Given the description of an element on the screen output the (x, y) to click on. 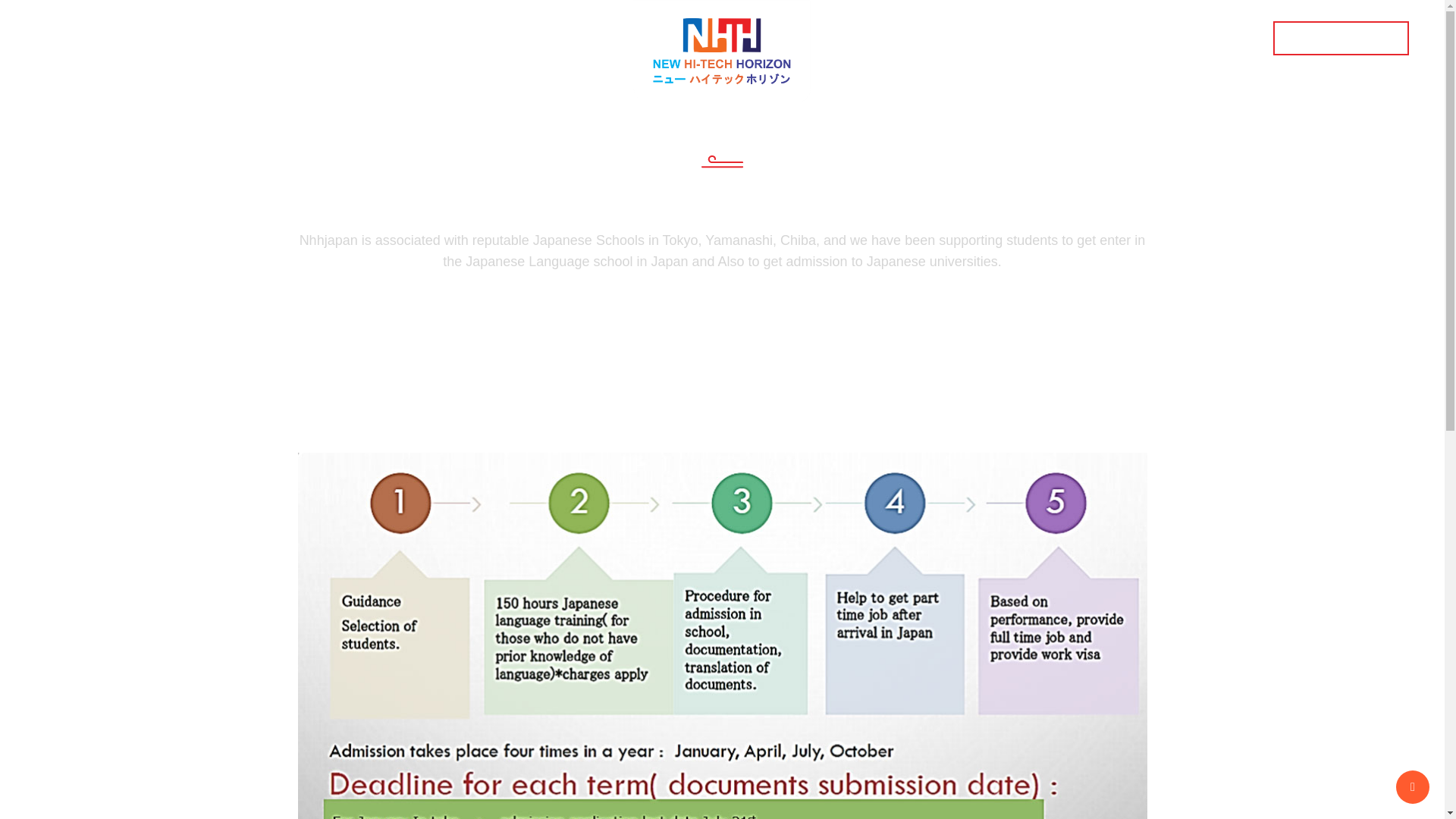
ABOUT US (445, 37)
HOME (352, 37)
JOBS (869, 37)
CONTACT US (1058, 37)
SUBMIT RESUME (1340, 38)
EVENTS (952, 37)
SERVICES (555, 37)
